Given the description of an element on the screen output the (x, y) to click on. 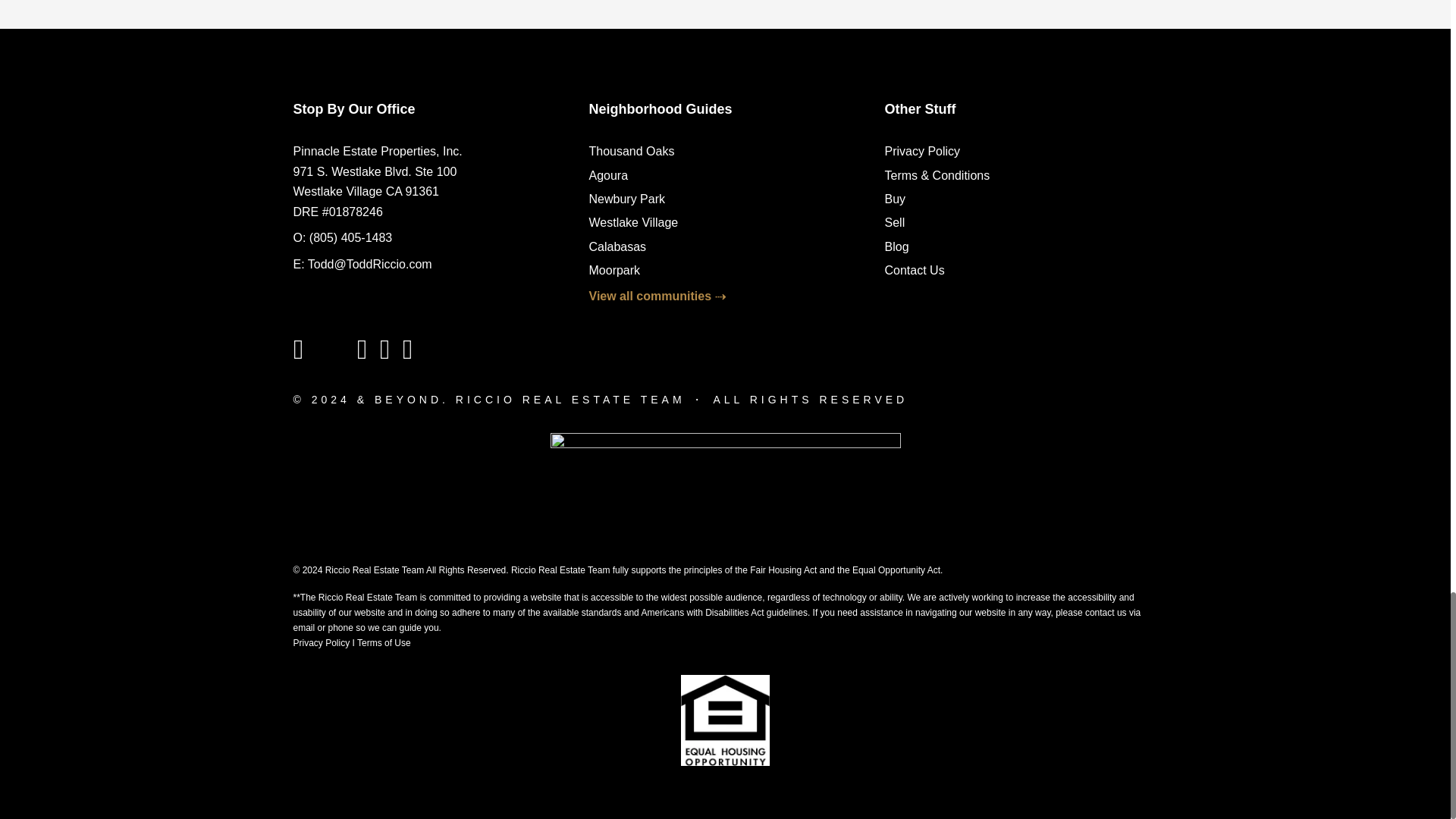
Moorpark (614, 269)
Agoura (607, 174)
Newbury Park (625, 198)
Calabasas (617, 246)
Thousand Oaks (631, 151)
Westlake Village (633, 222)
